Given the description of an element on the screen output the (x, y) to click on. 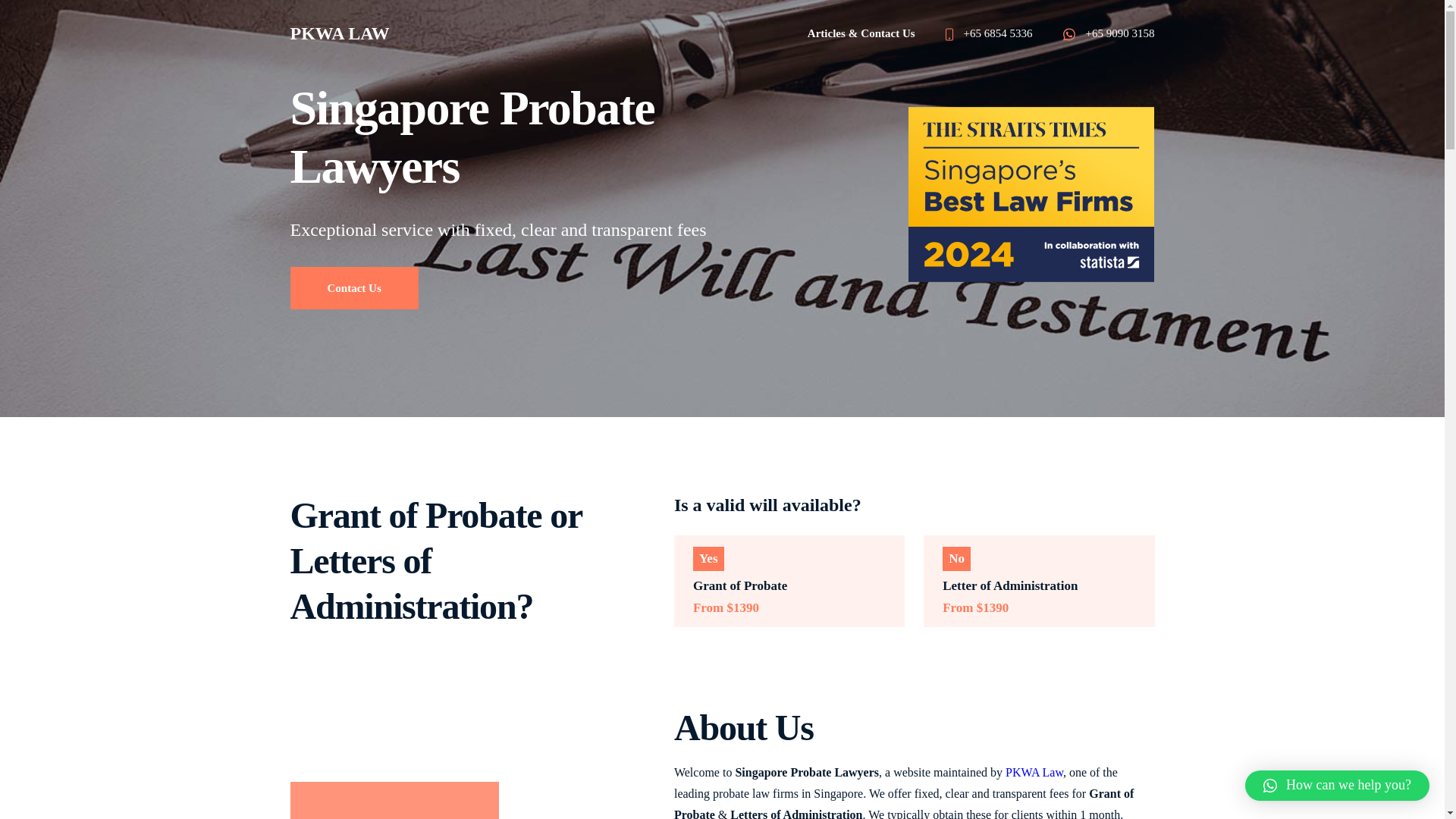
Articles (826, 33)
PKWA Law (1034, 771)
Contact Us (887, 33)
Contact Us (353, 287)
How can we help you? (1336, 785)
PKWA LAW (338, 33)
